Given the description of an element on the screen output the (x, y) to click on. 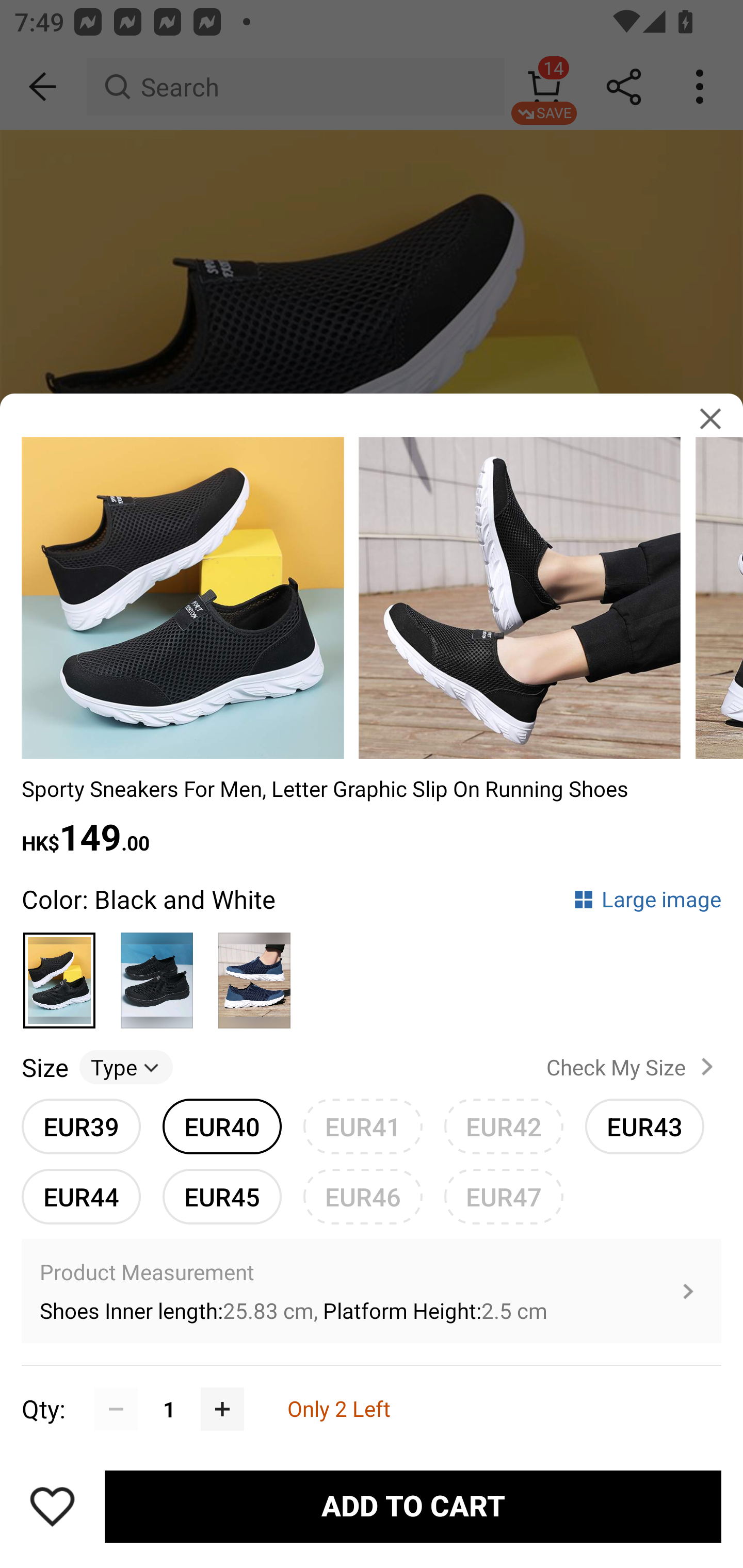
Color: Black and White (148, 898)
Large image (646, 898)
Black and White (59, 971)
Black (156, 971)
Blue (254, 971)
Size (44, 1066)
Type (126, 1066)
Check My Size (633, 1066)
EUR39 EUR43unselected option (81, 1126)
EUR40 EUR44selected option (221, 1126)
EUR41 EUR45 (362, 1126)
EUR42 EUR46 (503, 1126)
EUR43 EUR47unselected option (644, 1126)
EUR44 unselected option (81, 1196)
EUR45 unselected option (221, 1196)
EUR46 (362, 1196)
EUR47 (503, 1196)
ADD TO CART (412, 1506)
Save (52, 1505)
